Given the description of an element on the screen output the (x, y) to click on. 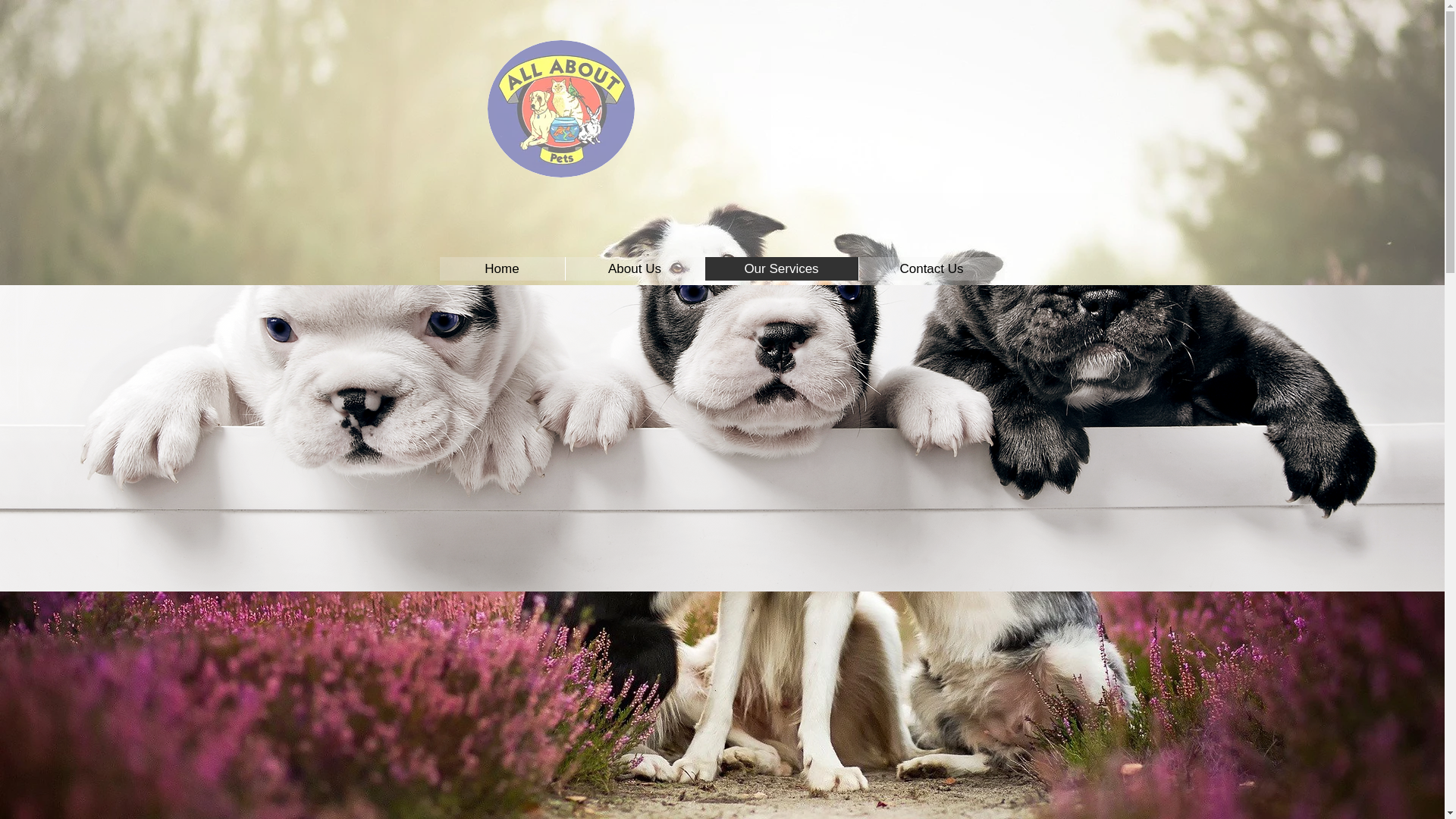
About Us (633, 268)
Contact Us (931, 268)
Our Services (780, 268)
Home (501, 268)
